Given the description of an element on the screen output the (x, y) to click on. 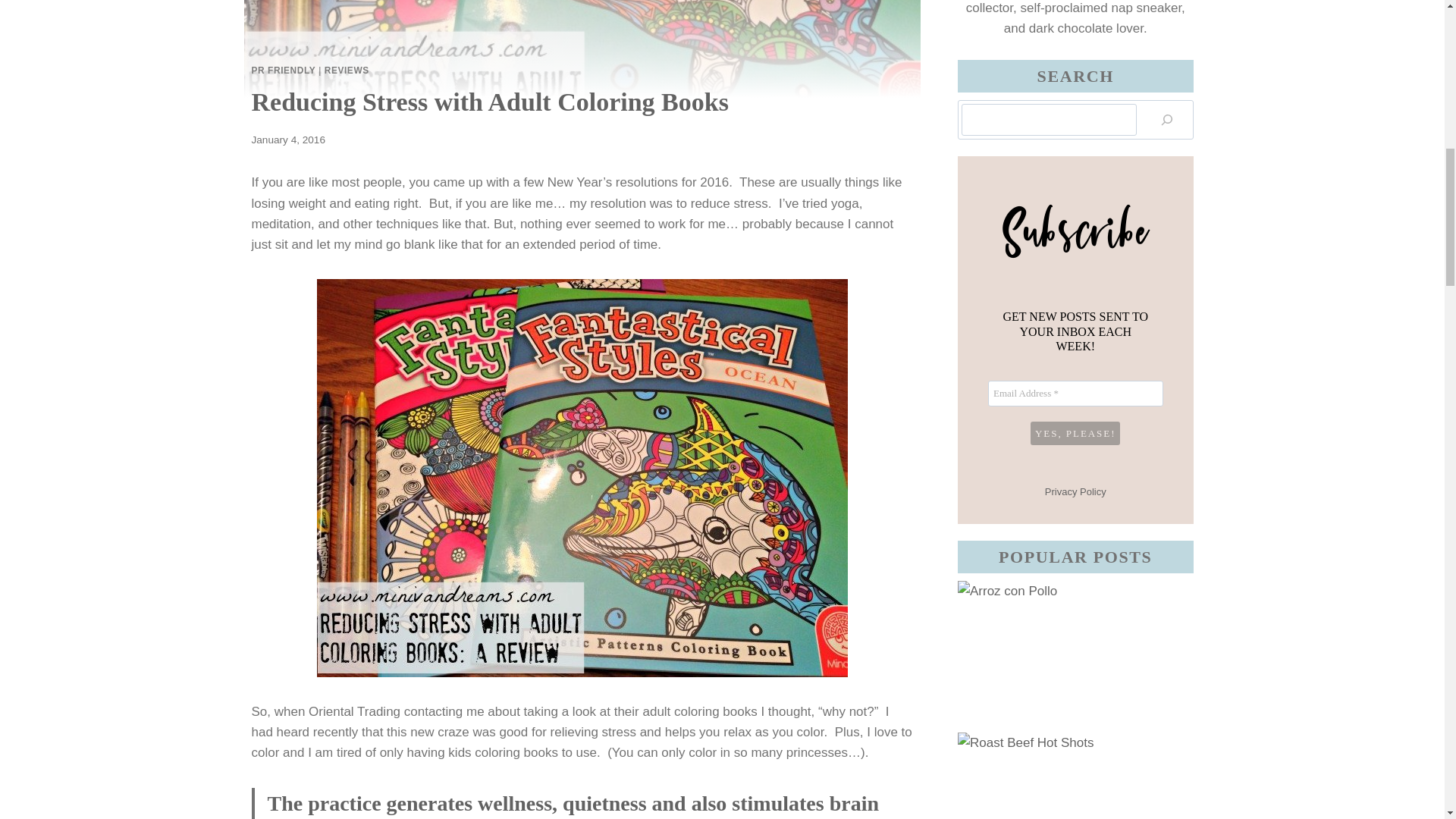
YES, PLEASE! (1074, 432)
PR FRIENDLY (283, 70)
REVIEWS (346, 70)
Roast Beef Hot Shots (1075, 775)
Email Address (1075, 393)
Arroz con Pollo (1075, 656)
